Given the description of an element on the screen output the (x, y) to click on. 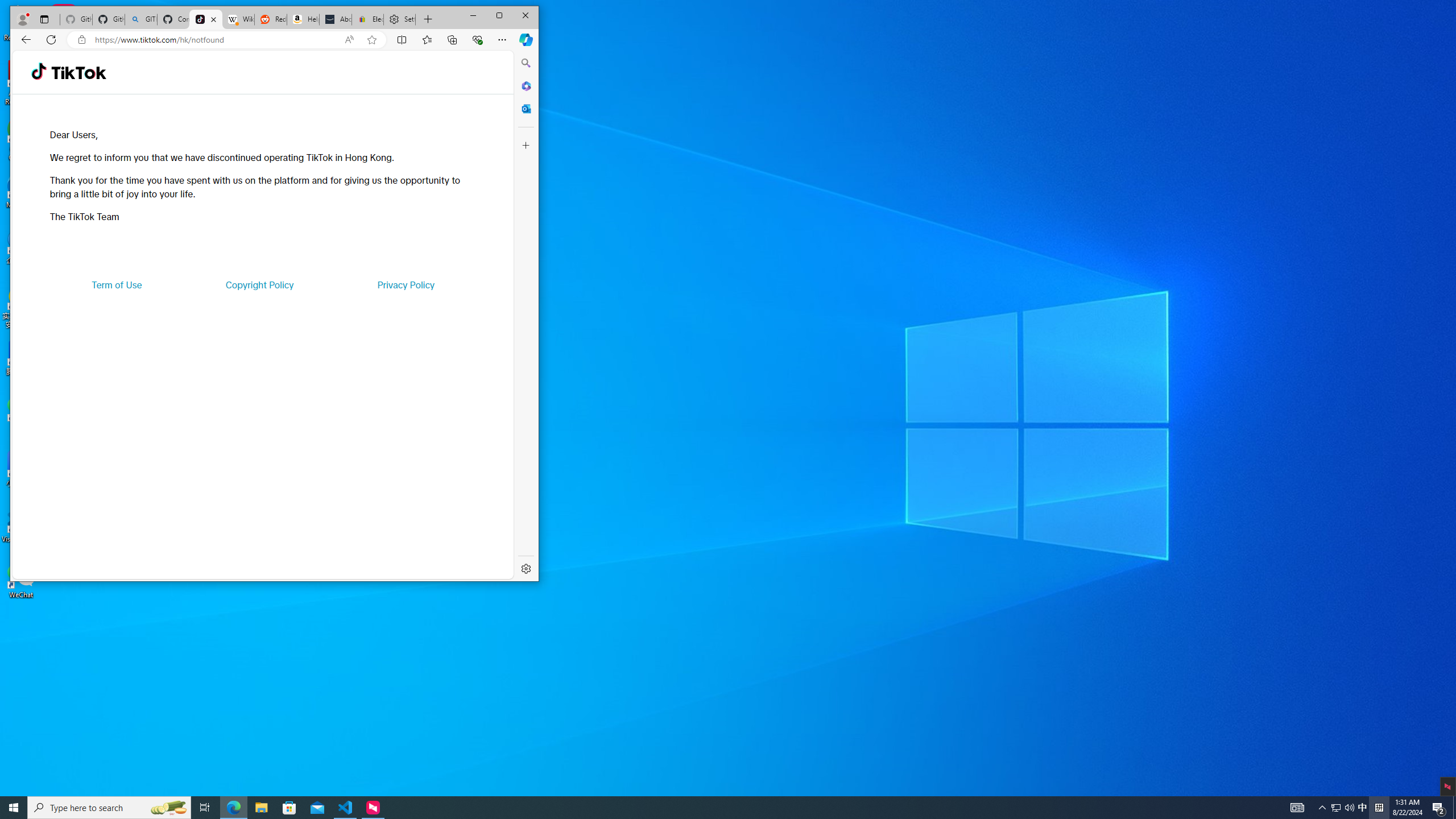
Copyright Policy (259, 284)
Running applications (707, 807)
